Given the description of an element on the screen output the (x, y) to click on. 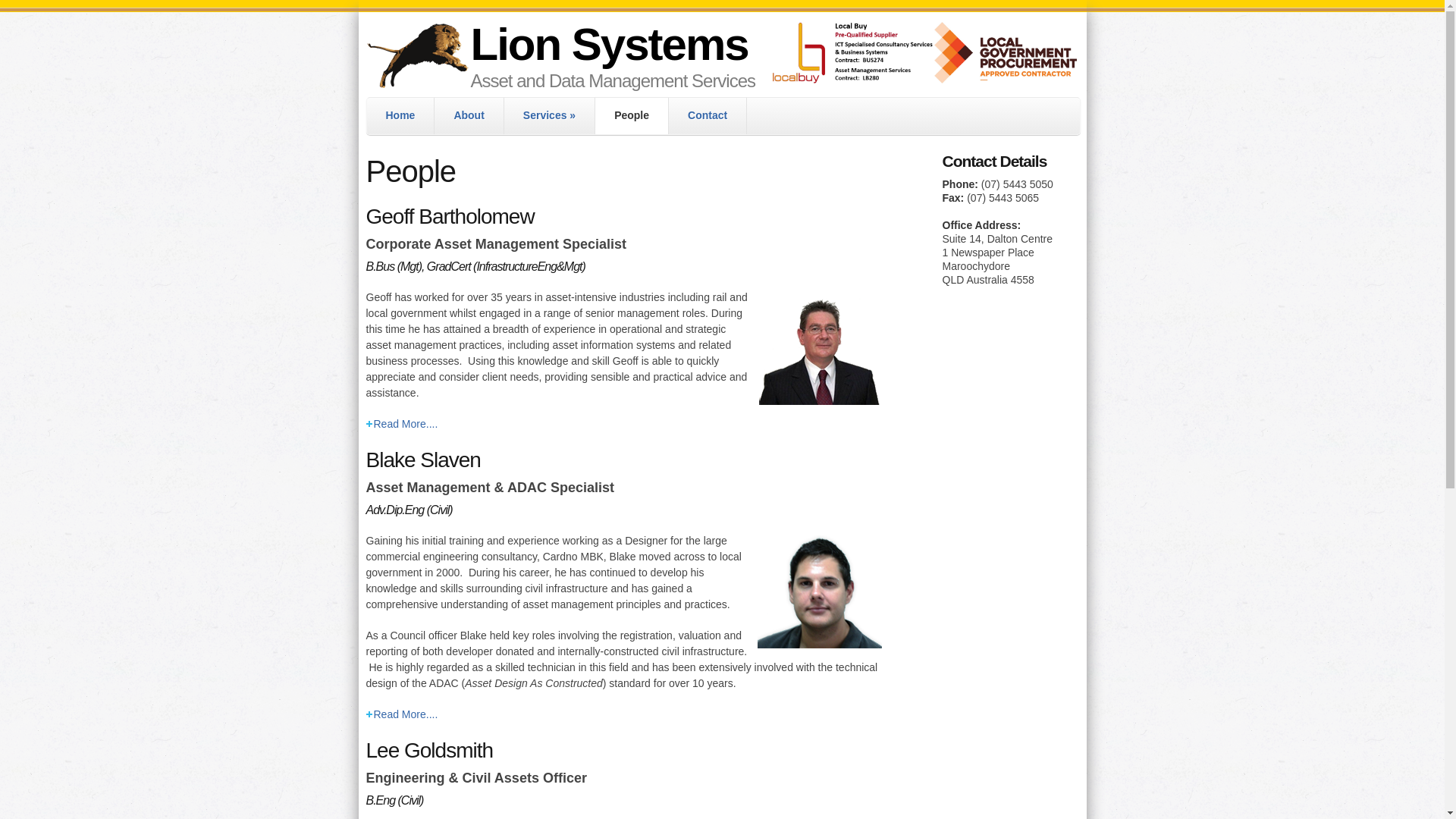
Blake Slaven Asset Management & ADAC Specialist Element type: hover (818, 590)
Geoff Bartholomew Element type: hover (818, 346)
Contact Element type: text (707, 115)
About Element type: text (468, 115)
Lion Systems Element type: text (608, 43)
Home Element type: text (400, 115)
Read More.... Element type: text (623, 713)
People Element type: text (631, 115)
Read More.... Element type: text (623, 423)
